Given the description of an element on the screen output the (x, y) to click on. 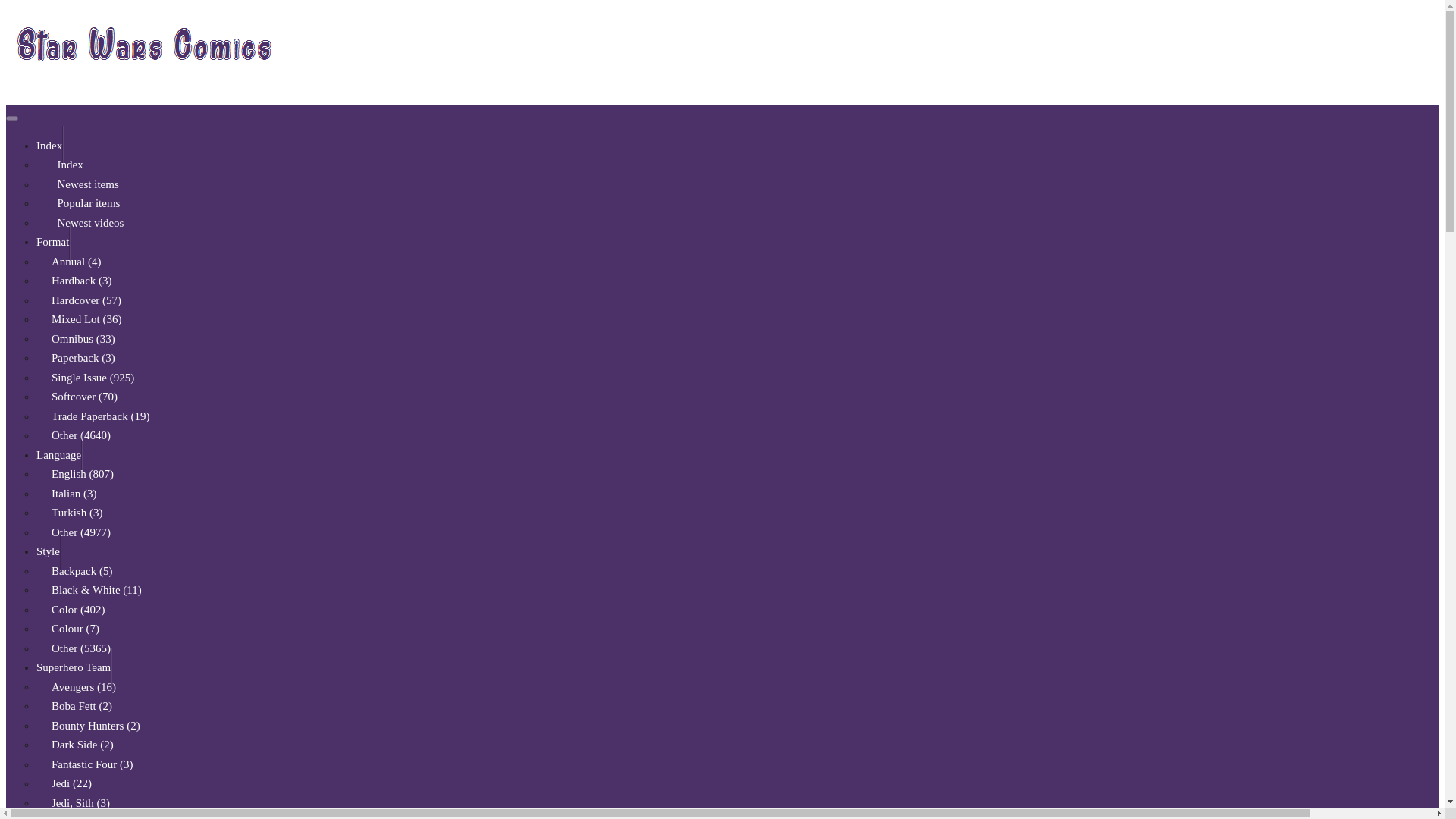
  Newest items (84, 183)
Language (58, 454)
  Index (67, 164)
  Popular items (85, 202)
Superhero Team (74, 667)
  Newest videos (87, 222)
